Given the description of an element on the screen output the (x, y) to click on. 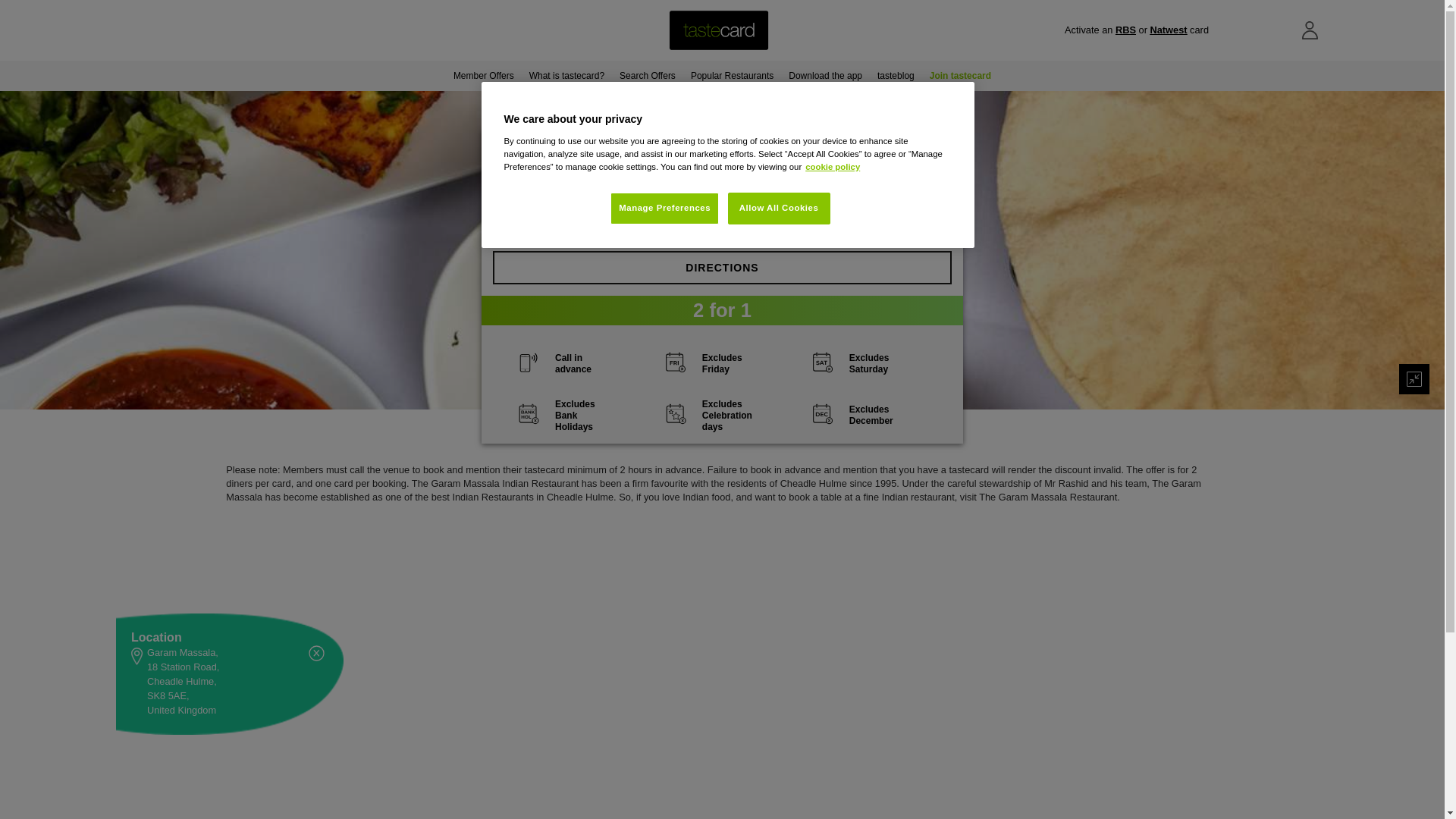
What is tastecard? (566, 75)
RBS (1125, 30)
Search Offers (646, 75)
Member Offers (483, 75)
Natwest (1168, 30)
Popular Restaurants (731, 75)
